Given the description of an element on the screen output the (x, y) to click on. 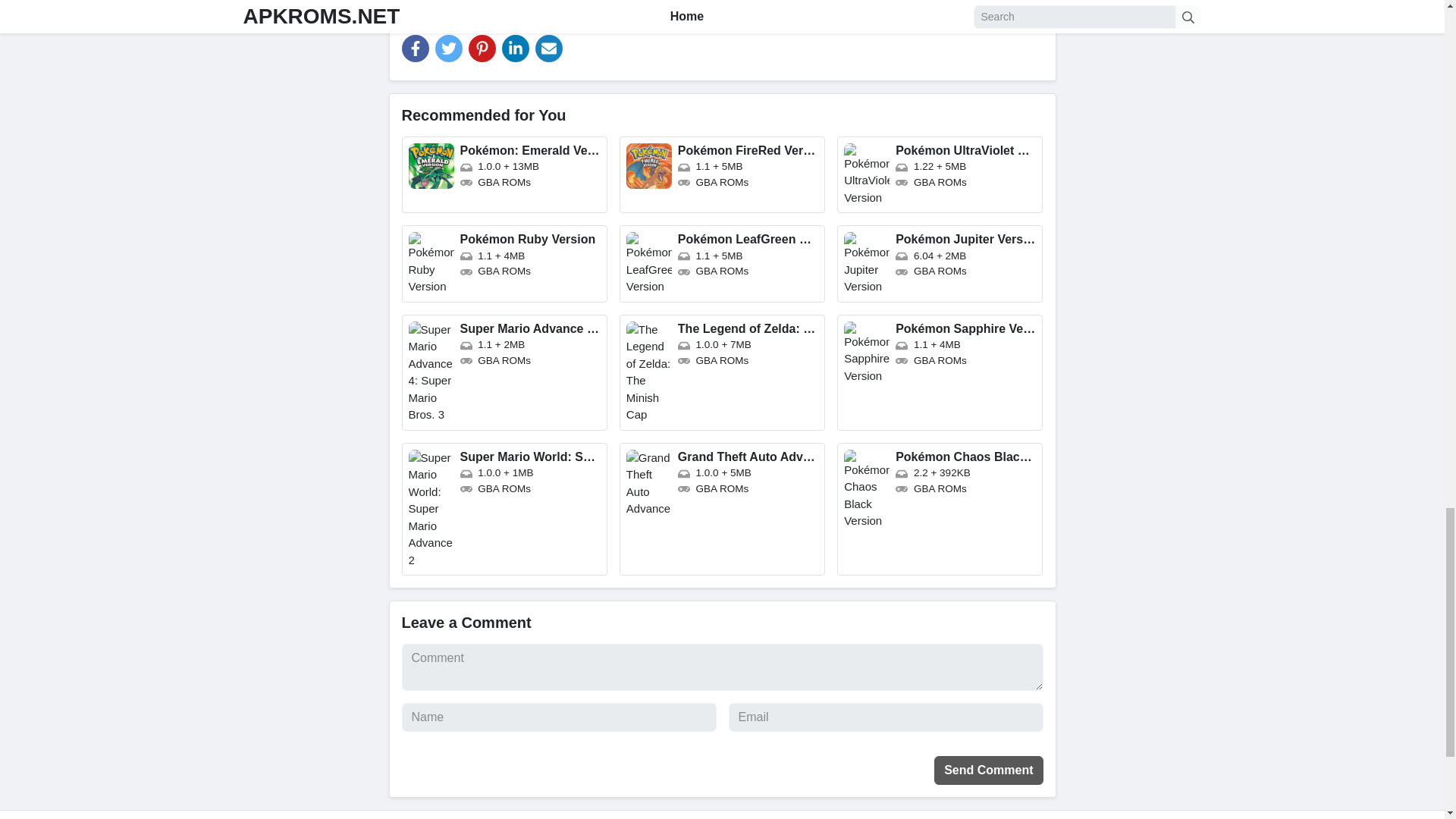
Send Comment (988, 769)
Super Mario World: Super Mario Advance 2 (504, 509)
The Legend of Zelda: The Minish Cap (722, 372)
Super Mario Advance 4: Super Mario Bros. 3 (504, 372)
Grand Theft Auto Advance (722, 509)
